Given the description of an element on the screen output the (x, y) to click on. 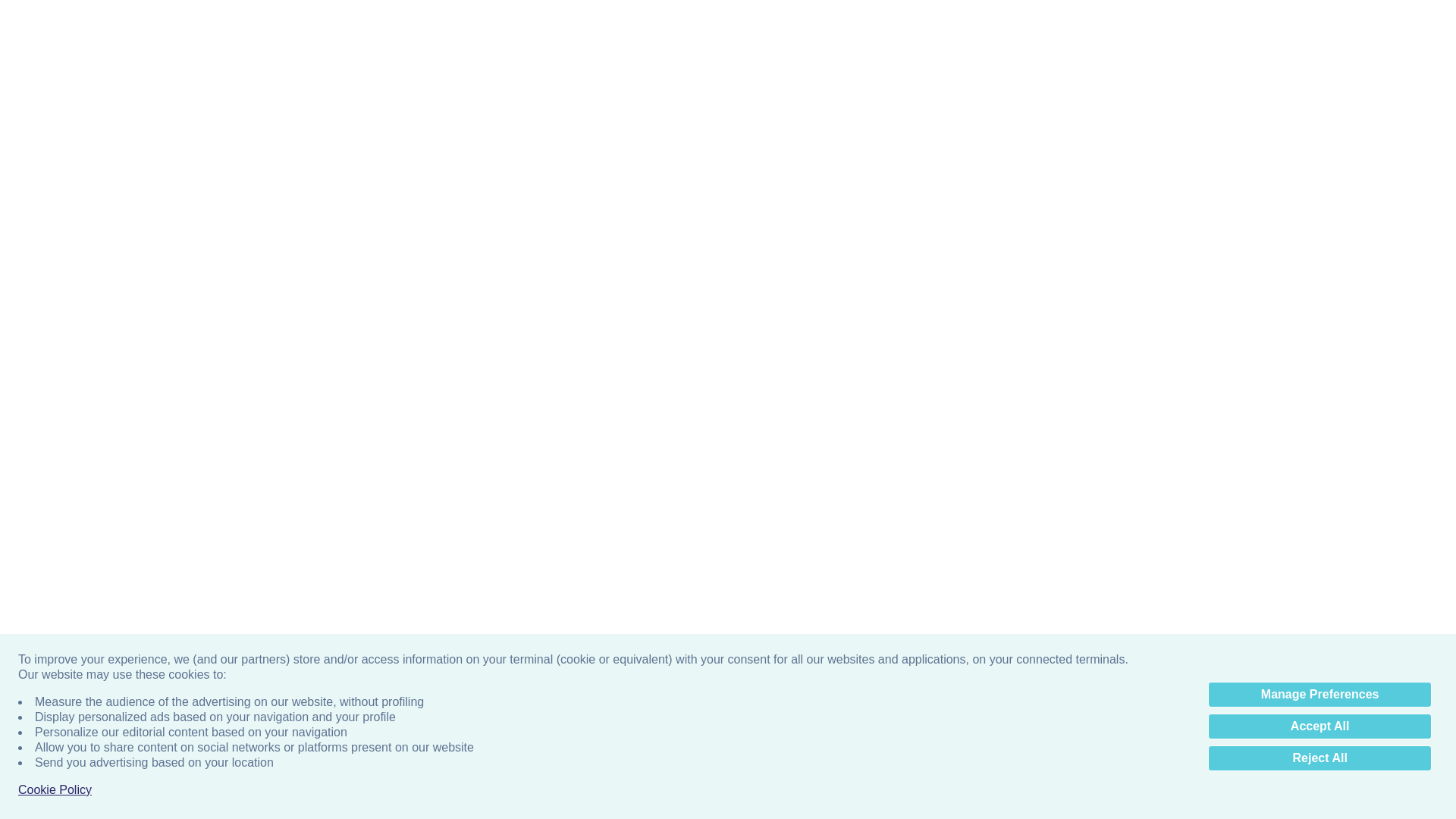
Cookie Policy (54, 159)
Reject All (1319, 127)
Manage Preferences (1319, 63)
Accept All (1319, 95)
